Given the description of an element on the screen output the (x, y) to click on. 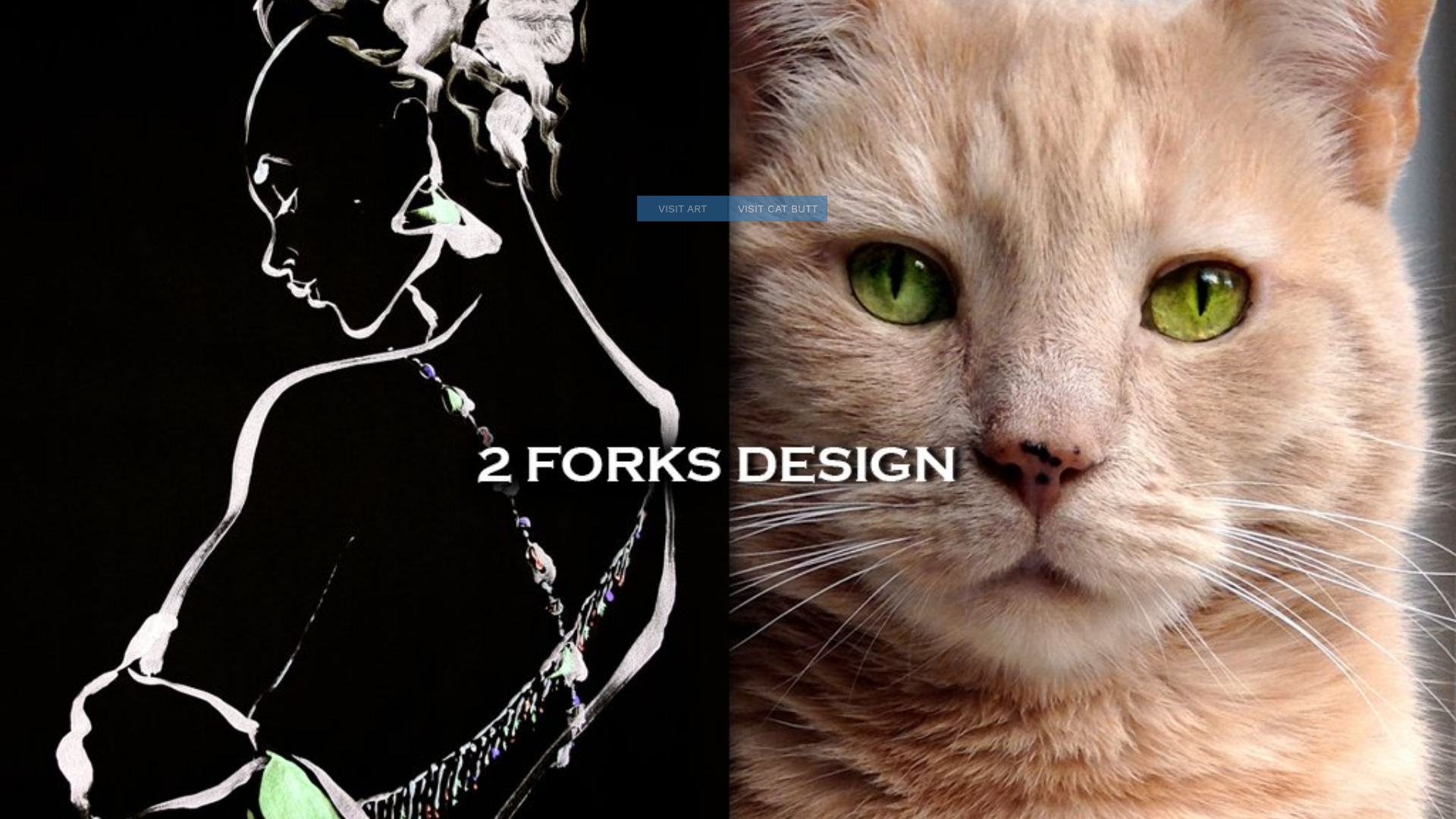
   VISIT ART    Element type: text (682, 208)
VISIT CAT BUTT Element type: text (777, 208)
